Given the description of an element on the screen output the (x, y) to click on. 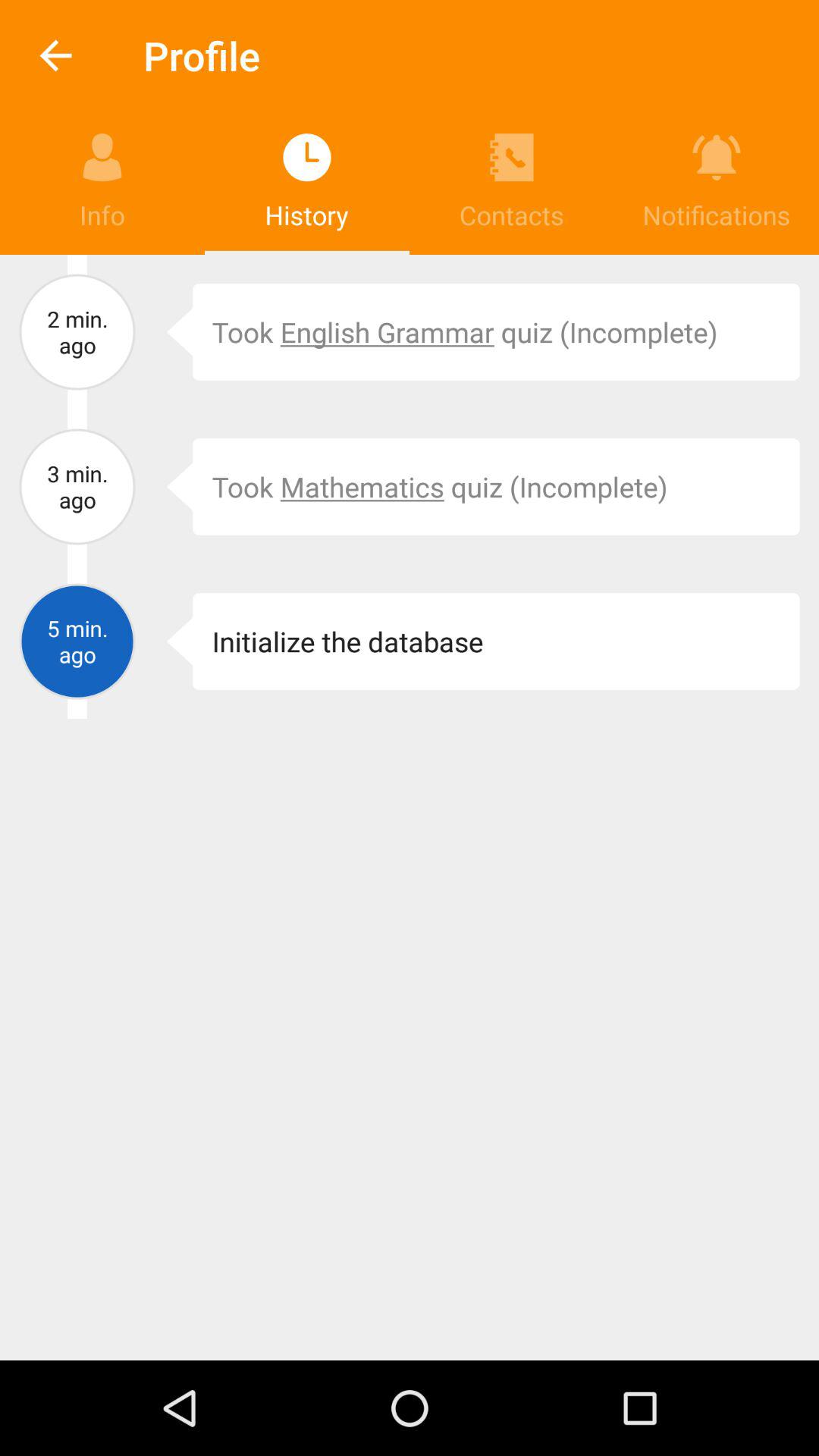
select the app to the left of the took english grammar item (168, 332)
